Given the description of an element on the screen output the (x, y) to click on. 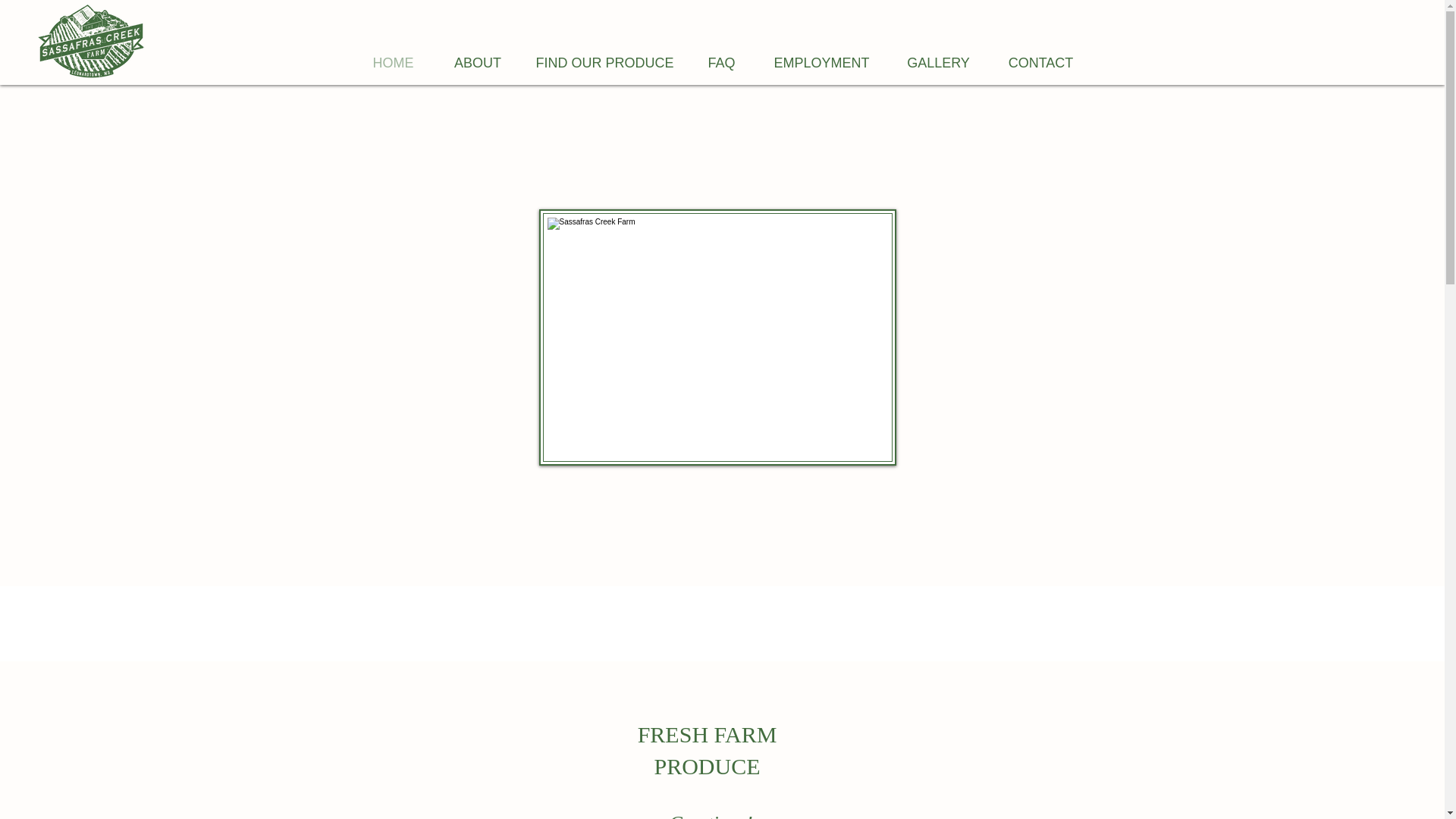
FAQ (721, 62)
ABOUT (477, 62)
EMPLOYMENT (821, 62)
HOME (392, 62)
CONTACT (1040, 62)
FIND OUR PRODUCE (604, 62)
GALLERY (938, 62)
